Given the description of an element on the screen output the (x, y) to click on. 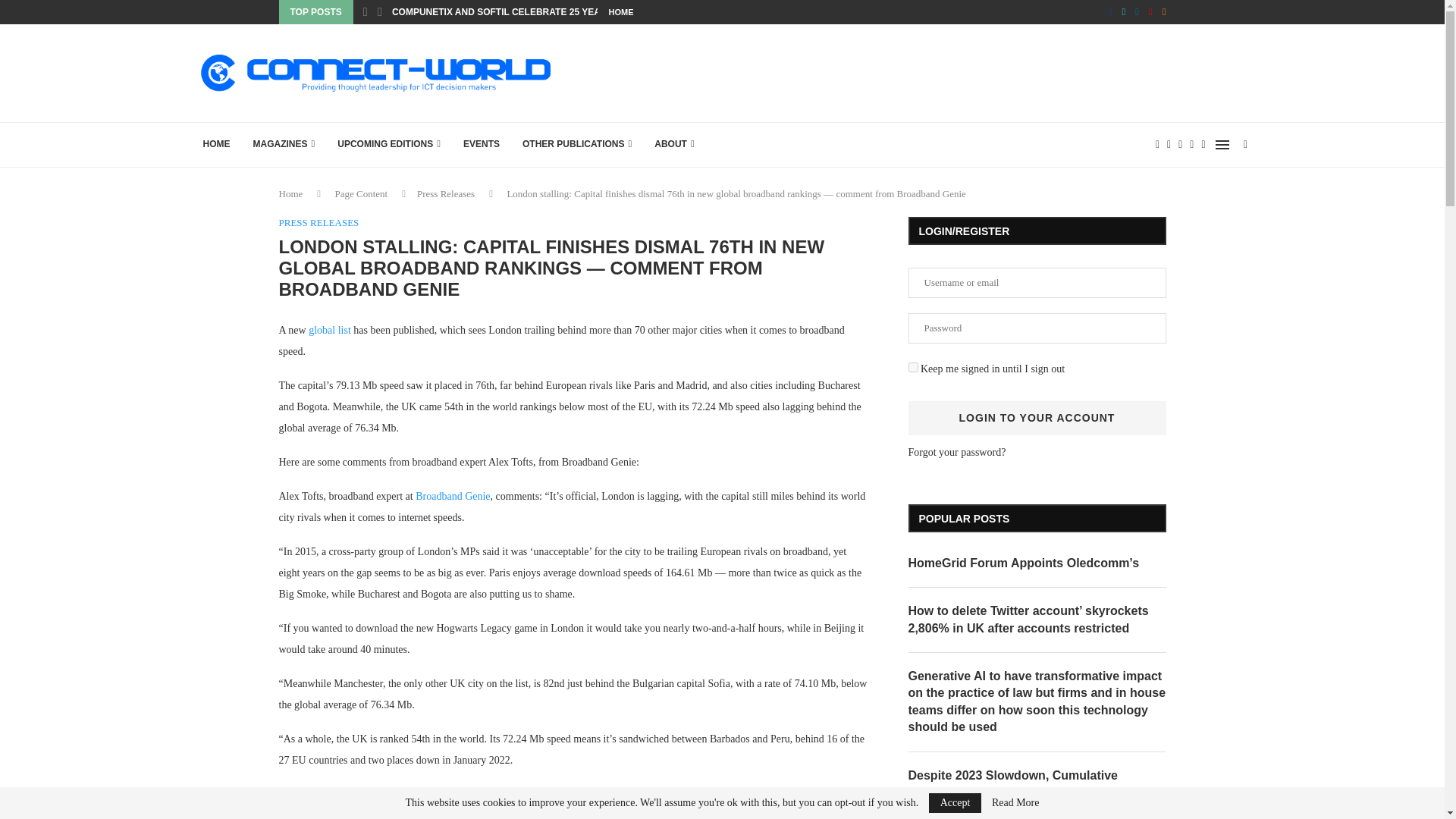
MAGAZINES (283, 144)
HOME (620, 12)
HOME (215, 144)
Login to your account (1037, 417)
forever (913, 367)
